Given the description of an element on the screen output the (x, y) to click on. 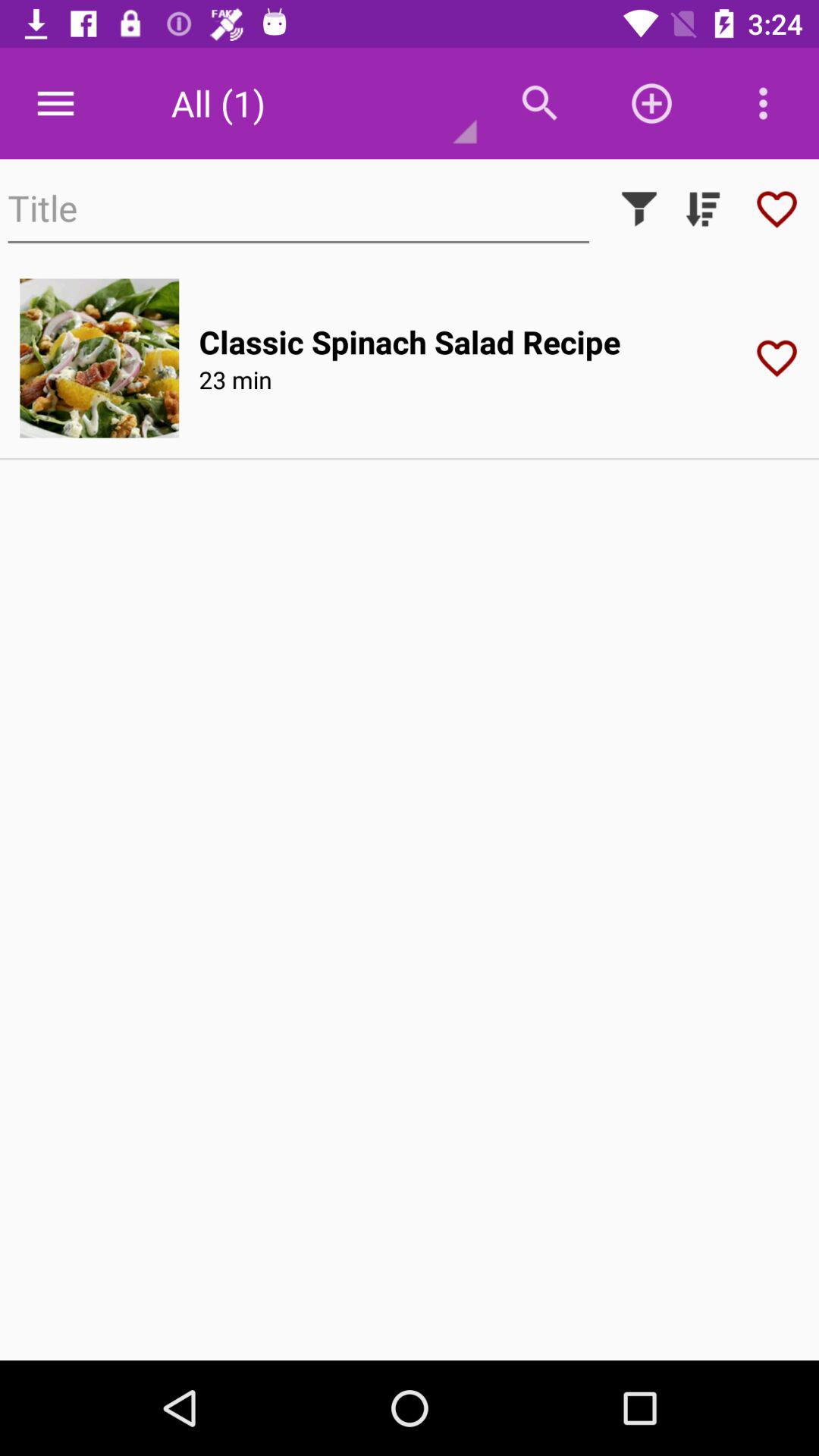
like button (782, 357)
